Given the description of an element on the screen output the (x, y) to click on. 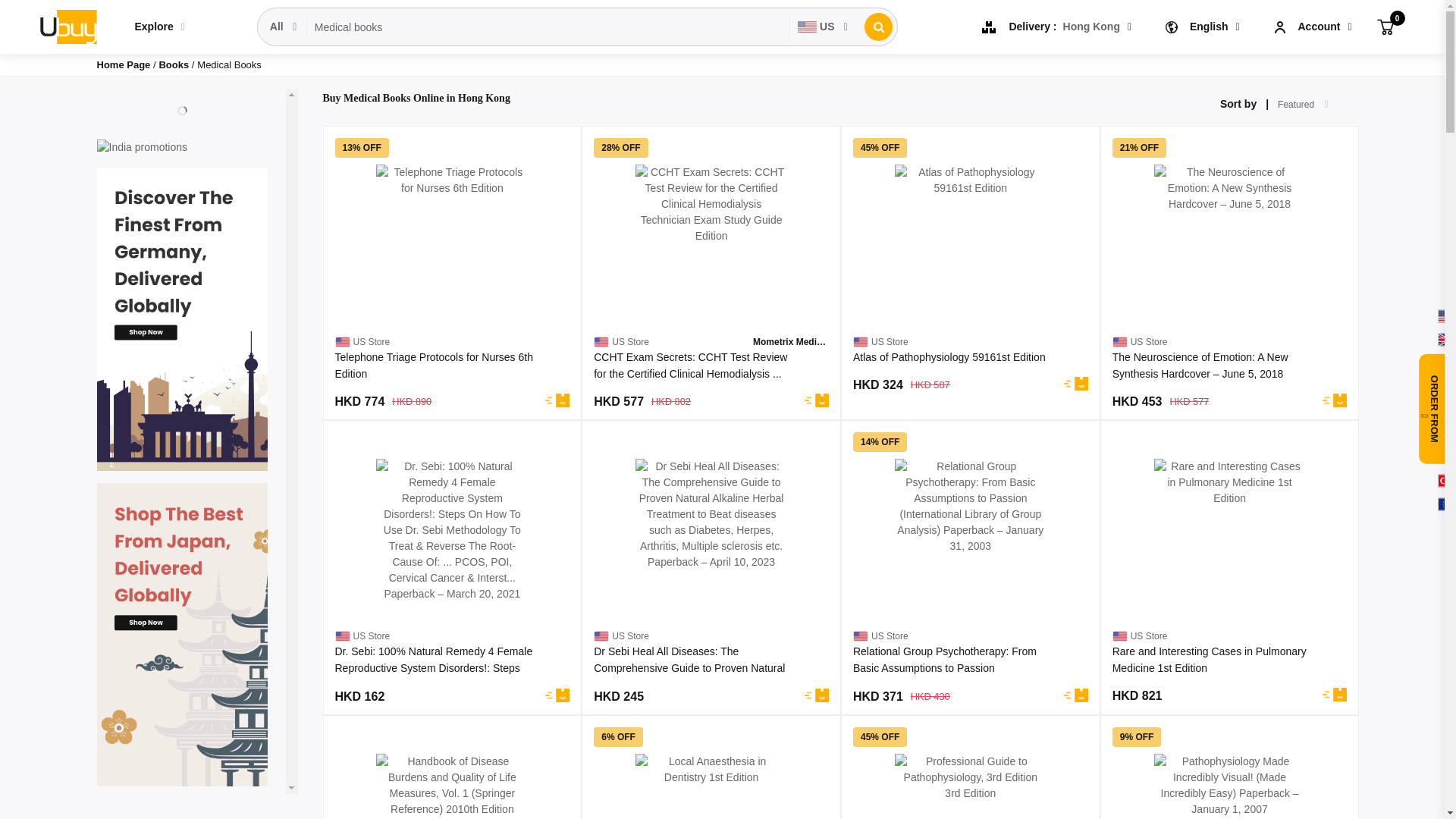
US (823, 26)
Medical books (548, 26)
All (283, 26)
Cart (1385, 26)
Medical books (548, 26)
0 (1385, 26)
Home Page (124, 64)
Home Page (124, 64)
Ubuy (67, 26)
